Given the description of an element on the screen output the (x, y) to click on. 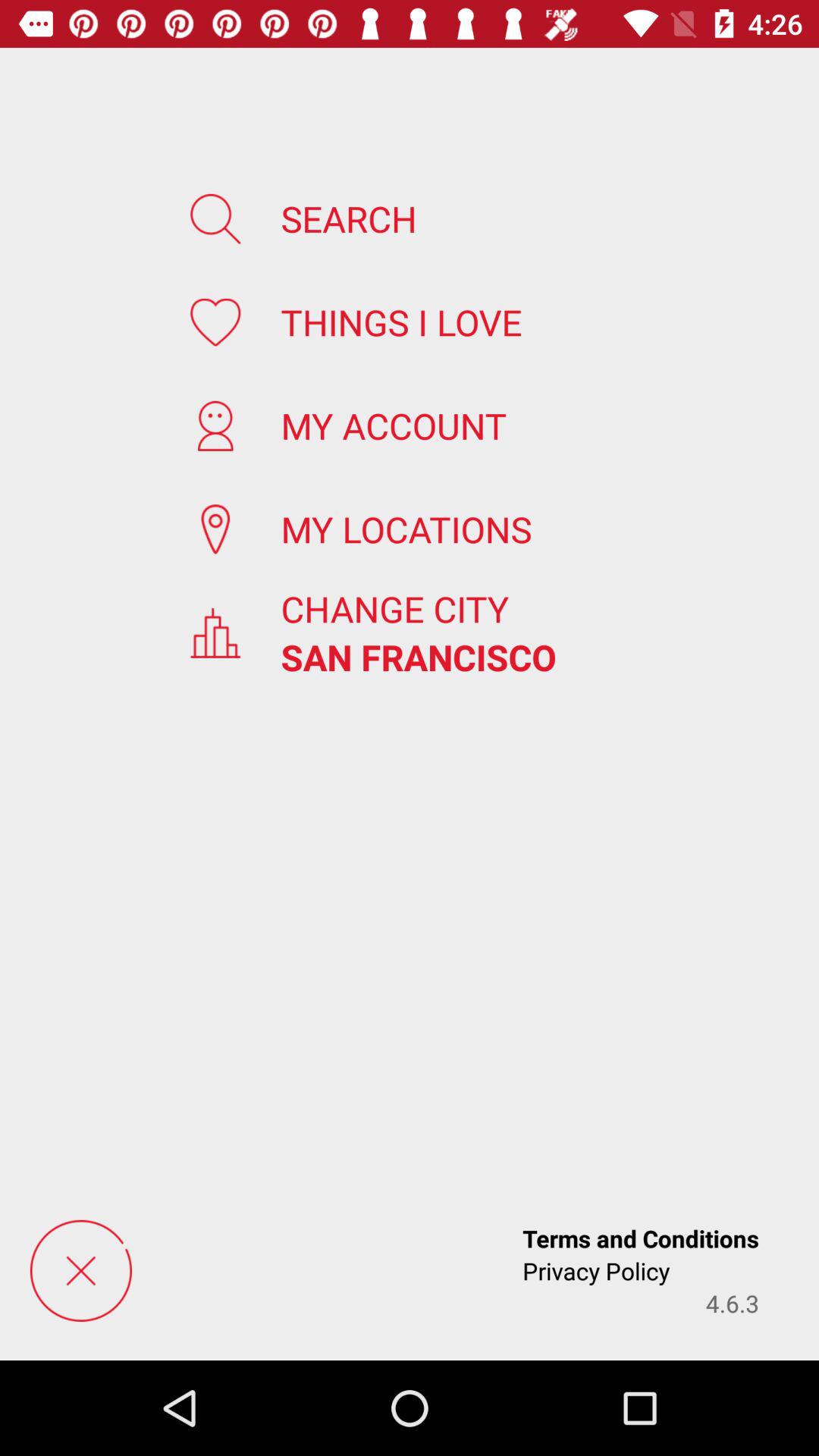
choose icon above change city (405, 529)
